Given the description of an element on the screen output the (x, y) to click on. 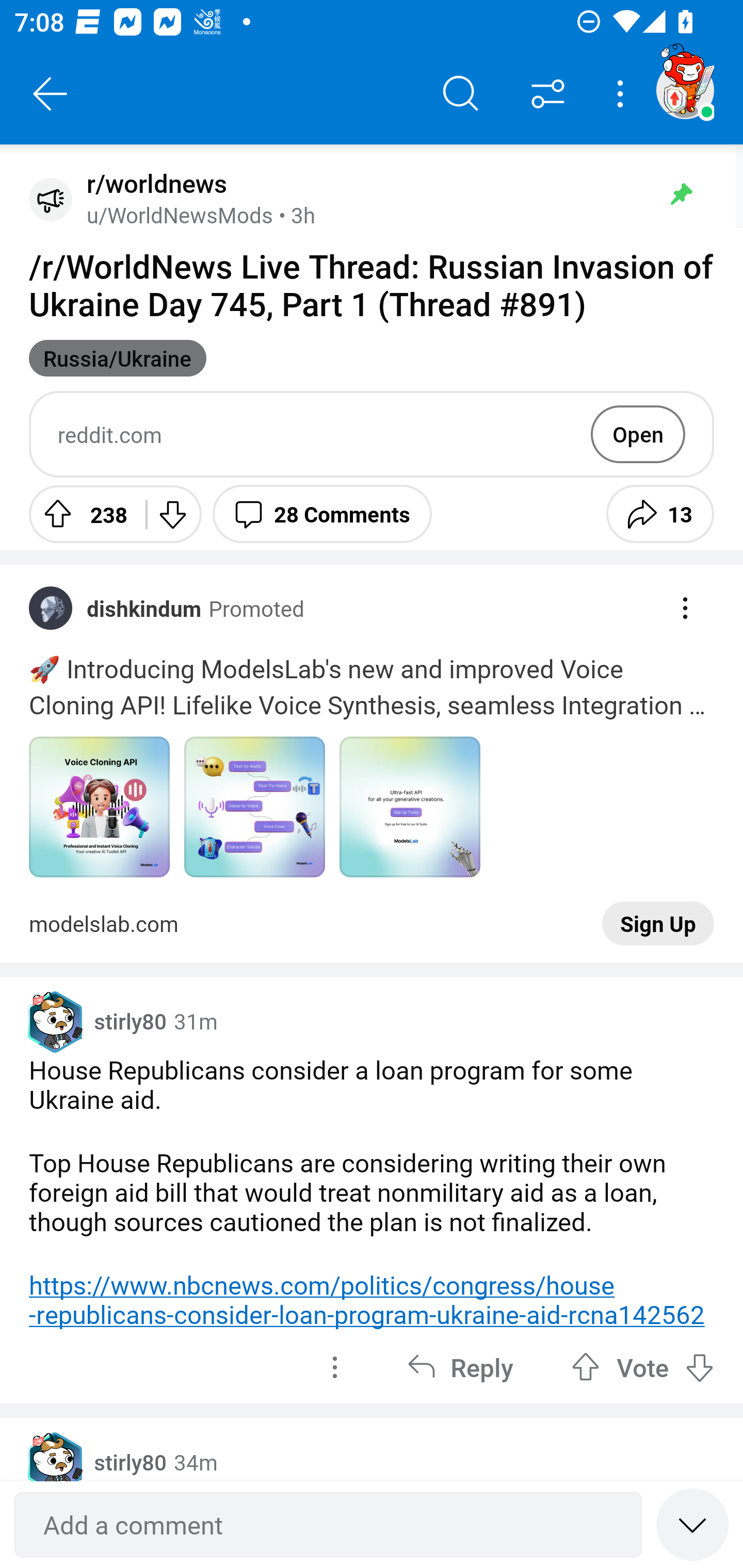
Back (50, 93)
TestAppium002 account (685, 90)
Search comments (460, 93)
Sort comments (547, 93)
More options (623, 93)
r/worldnews (153, 183)
Avatar (50, 199)
Pinned (681, 194)
Russia/Ukraine (117, 358)
reddit.com Open (371, 434)
Open (637, 434)
Upvote 238 (79, 514)
Downvote (171, 514)
28 Comments (321, 514)
Share 13 (660, 514)
Image 2 of 3.  (254, 807)
Image 3 of 3.  (409, 807)
options (334, 1367)
Reply (460, 1367)
Upvote Vote Downvote (642, 1367)
Speed read (692, 1524)
Add a comment (327, 1524)
